Given the description of an element on the screen output the (x, y) to click on. 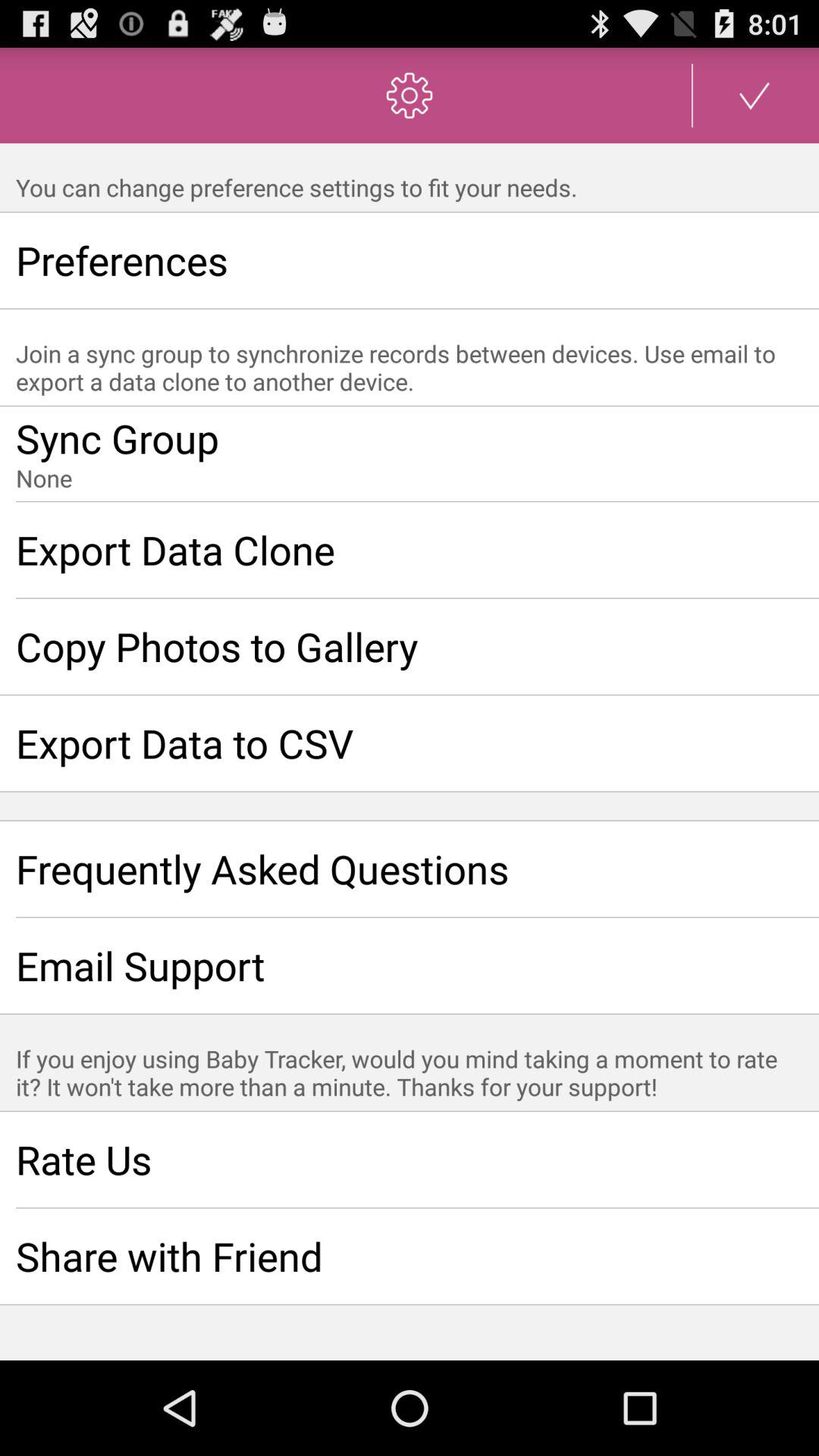
join a sync group (409, 454)
